Given the description of an element on the screen output the (x, y) to click on. 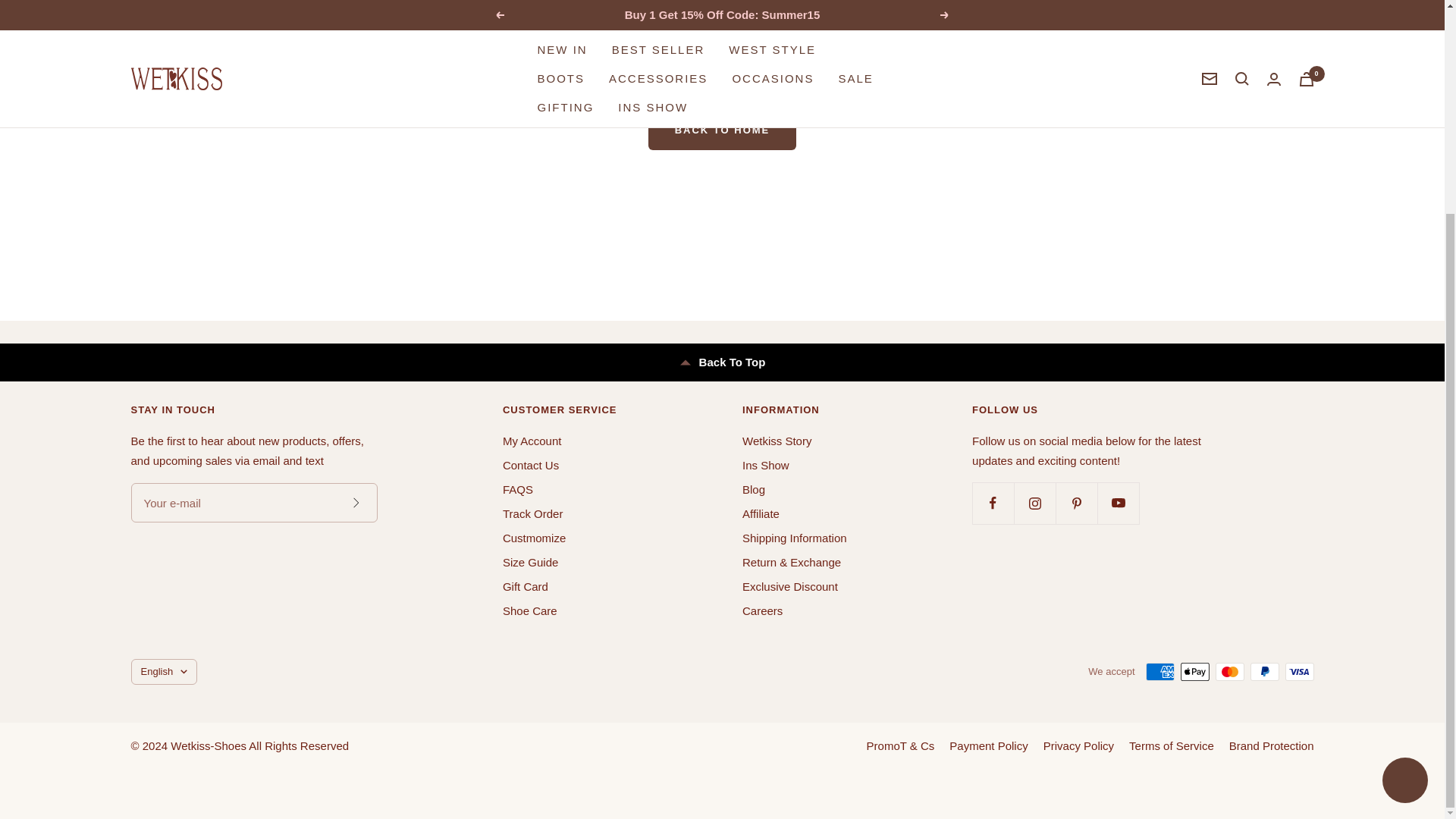
Careers (762, 610)
Wetkiss Story (776, 441)
Gift Card (525, 587)
Register (355, 502)
My Account (532, 441)
Size Guide (529, 562)
Exclusive Discount (790, 587)
BACK TO HOME (721, 129)
Affiliate (760, 514)
Blog (753, 489)
